Given the description of an element on the screen output the (x, y) to click on. 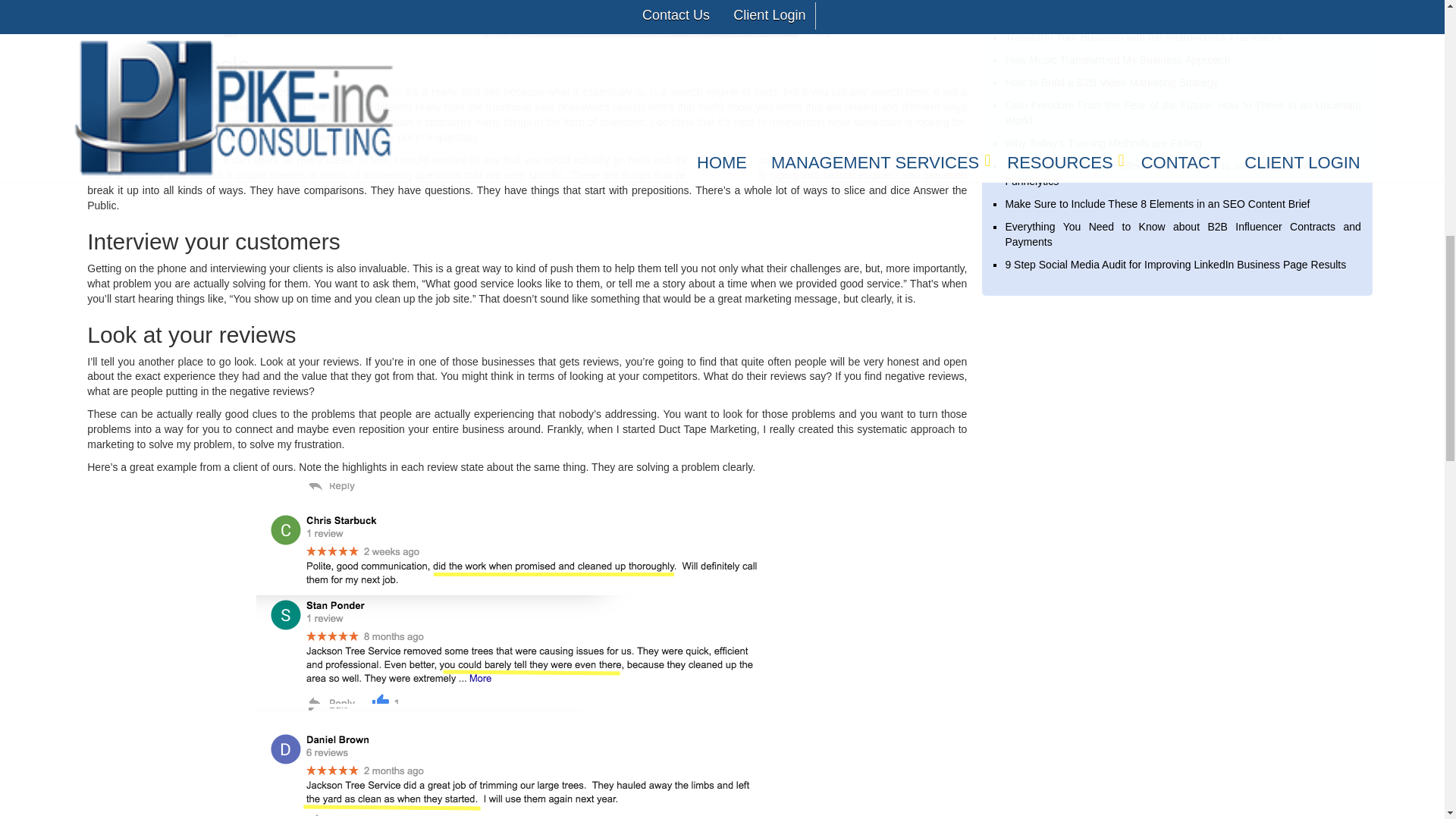
Transform Your Business with the Metronomics Framework (1143, 37)
How to Build a B2B Video Marketing Strategy (1110, 82)
Answer the Public (355, 91)
How Music Transformed My Business Approach (1117, 60)
